Given the description of an element on the screen output the (x, y) to click on. 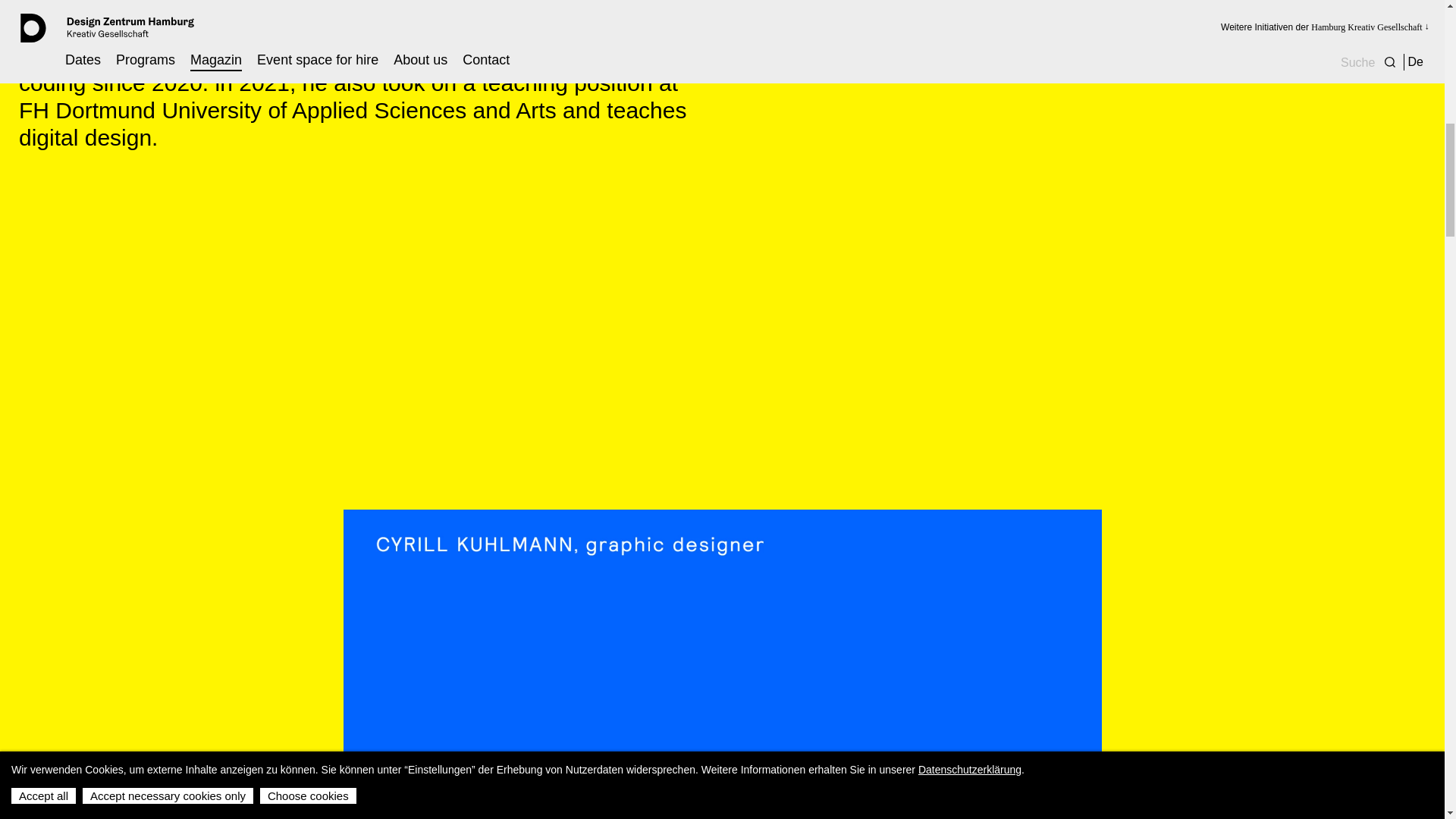
COPE Studio (105, 55)
